Given the description of an element on the screen output the (x, y) to click on. 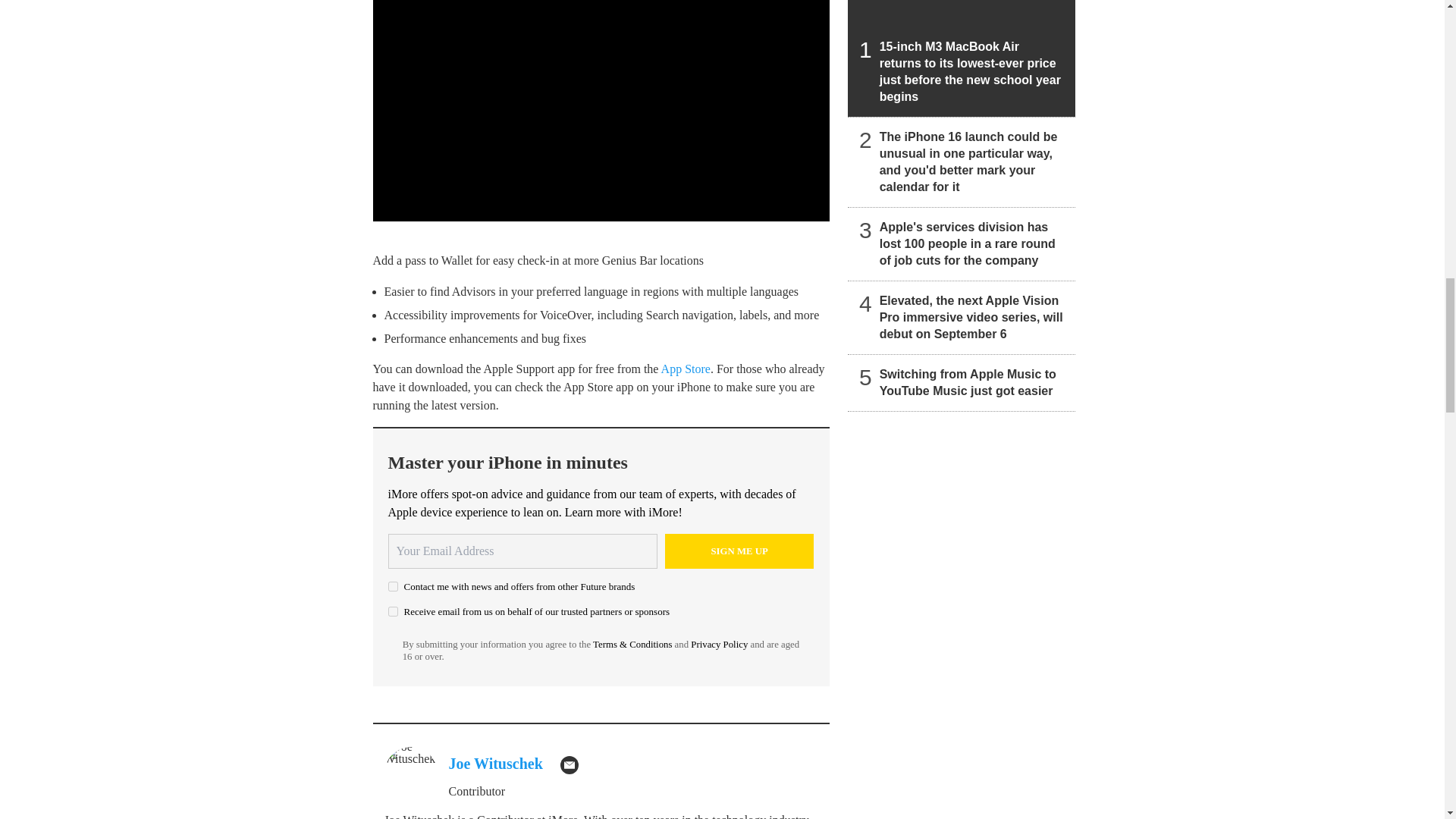
Sign me up (739, 550)
on (392, 611)
on (392, 586)
